Given the description of an element on the screen output the (x, y) to click on. 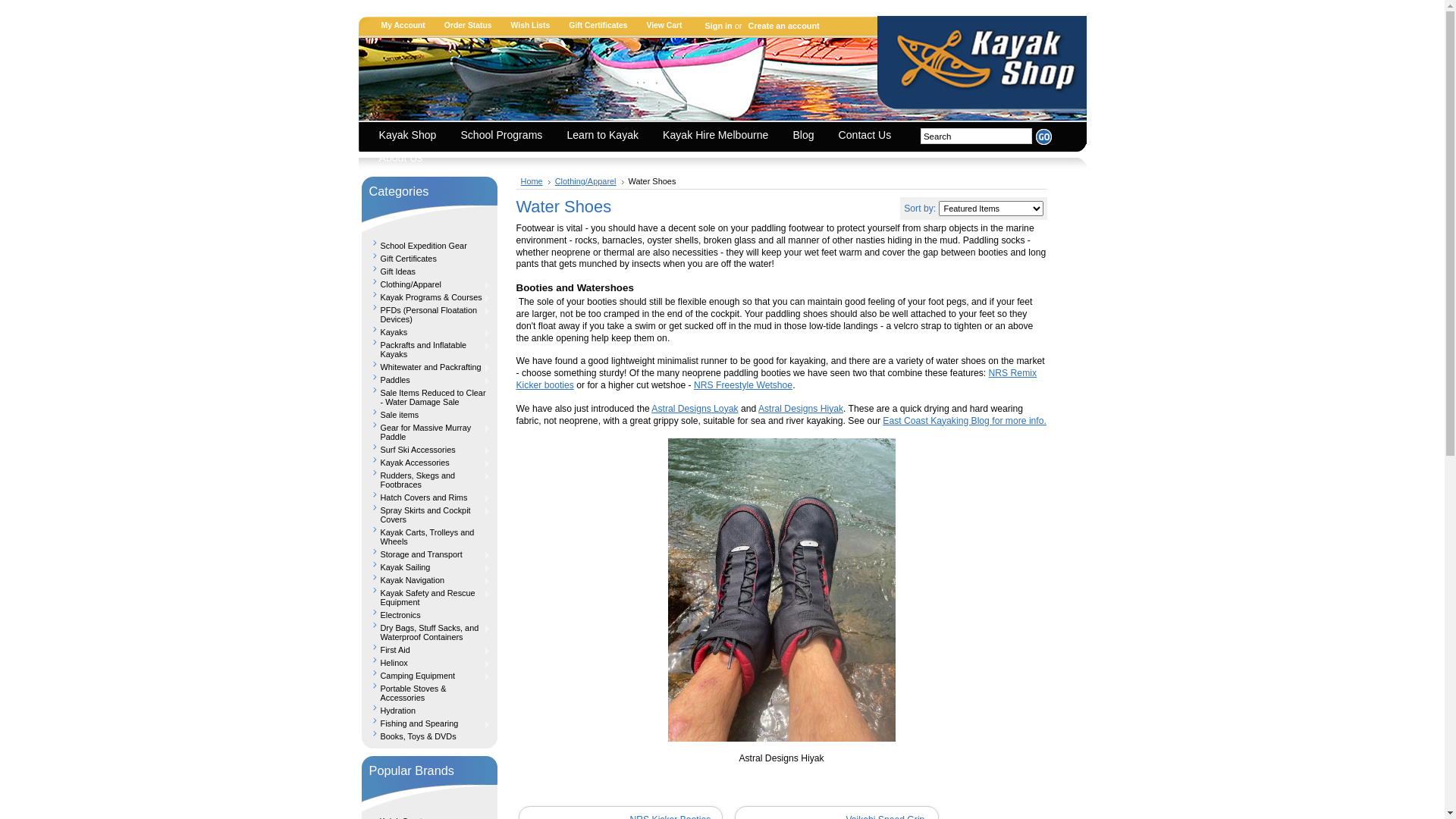
View Cart Element type: text (669, 25)
NRS Freestyle Wetshoe Element type: text (742, 384)
Kayak Carts, Trolleys and Wheels Element type: text (428, 535)
About Us Element type: text (404, 158)
Sale items Element type: text (428, 412)
Contact Us Element type: text (868, 136)
NRS Remix Kicker booties Element type: text (775, 378)
School Expedition Gear Element type: text (428, 243)
img-1584.jpg Element type: hover (780, 589)
Home Element type: text (534, 180)
Gift Certificates Element type: text (428, 256)
East Coast Kayaking Blog for more info. Element type: text (964, 420)
Blog Element type: text (806, 136)
Astral Designs Hiyak Element type: text (800, 408)
Kayak Shop Element type: text (411, 136)
Kayak Hire Melbourne Element type: text (719, 136)
Portable Stoves & Accessories Element type: text (428, 691)
Sign in Element type: text (715, 25)
Create an account Element type: text (781, 25)
Astral Designs Loyak Element type: text (694, 408)
Wish Lists Element type: text (536, 25)
Gift Certificates Element type: text (603, 25)
Electronics Element type: text (428, 612)
Sale Items Reduced to Clear - Water Damage Sale Element type: text (428, 395)
Learn to Kayak Element type: text (605, 136)
Gift Ideas Element type: text (428, 269)
My Account Element type: text (408, 25)
Books, Toys & DVDs Element type: text (428, 734)
Hydration Element type: text (428, 708)
Clothing/Apparel Element type: text (589, 180)
School Programs Element type: text (504, 136)
Order Status Element type: text (473, 25)
